Given the description of an element on the screen output the (x, y) to click on. 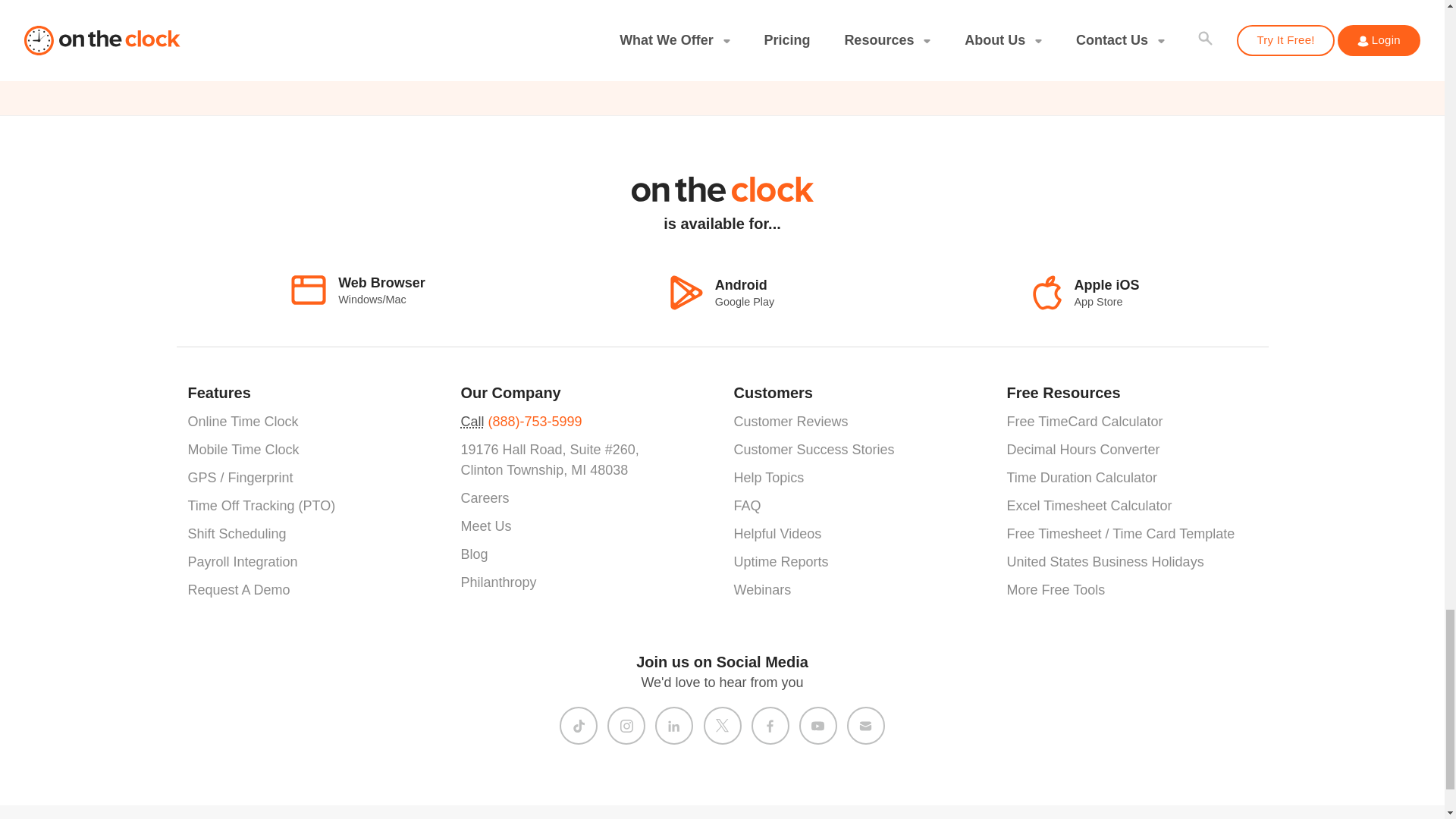
Instagram OnTheClock Instagram Icon (626, 725)
LinkedIn OnTheClock LinkedIn Icon (673, 726)
YouTube OnTheClock YouTube Icon (817, 725)
X OnTheClock X Icon (722, 725)
LinkedIn OnTheClock TikTok Icon (578, 725)
Facebook OnTheClock Facebook Icon (769, 725)
Contact Us OnTheClock Contact Icon (865, 725)
